Given the description of an element on the screen output the (x, y) to click on. 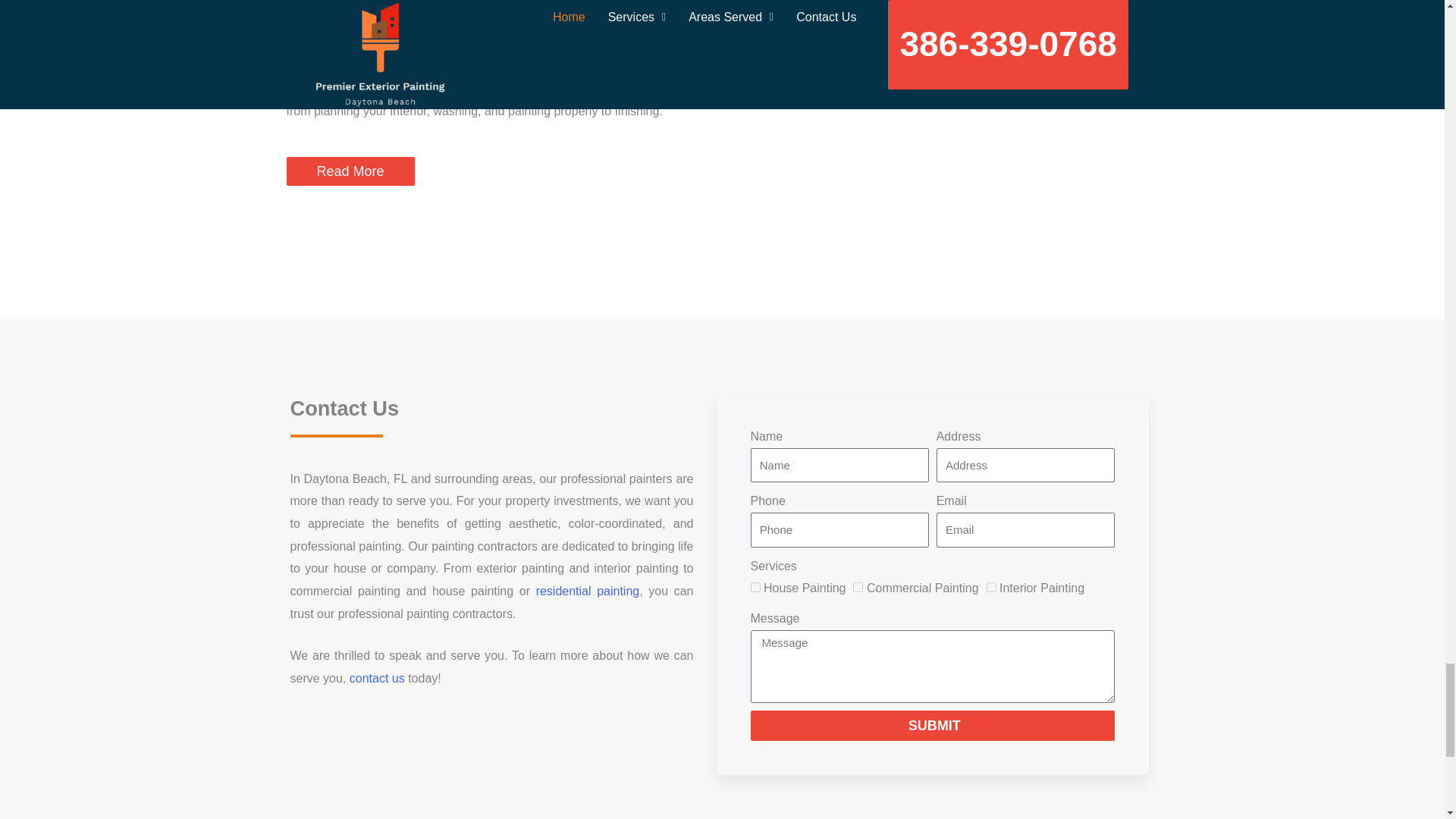
House Painting (755, 587)
Interior Painting (991, 587)
Commercial Painting  (858, 587)
